Given the description of an element on the screen output the (x, y) to click on. 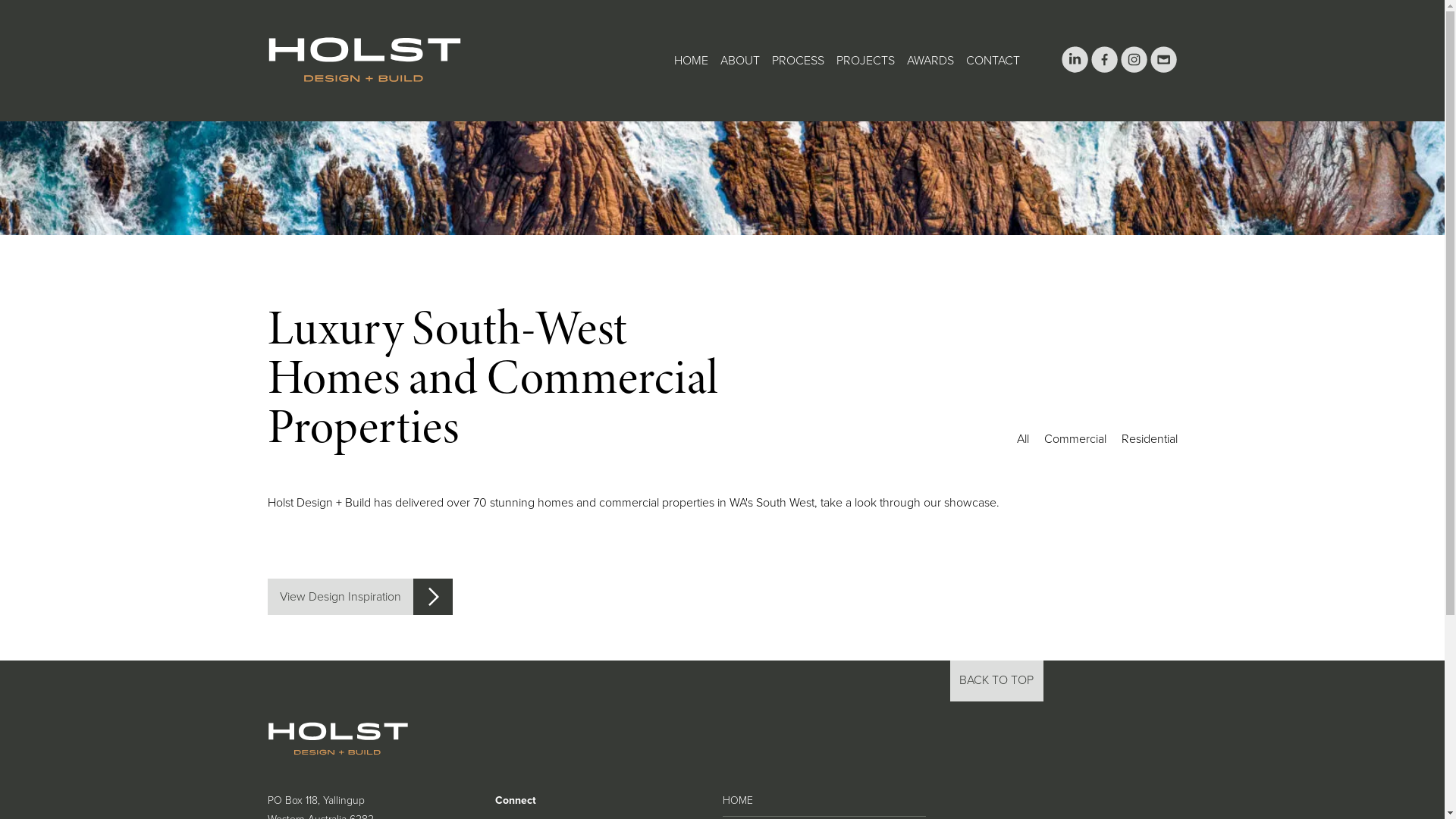
All Element type: text (1022, 438)
FOLLOW US ON INSTAGRAM Element type: text (1133, 68)
HOME Element type: text (736, 800)
CONTACT Element type: text (992, 60)
BACK TO TOP Element type: text (996, 680)
Commercial Element type: text (1074, 438)
FOLLOW US ON FACEBOOK Element type: text (1104, 68)
ABOUT Element type: text (739, 60)
FOLLOW US ON LINKEDIN Element type: text (1074, 68)
AWARDS Element type: text (929, 60)
EMAIL US AT ADMIN@HOLSTDB.COM.AU Element type: text (1163, 68)
PROCESS Element type: text (797, 60)
Residential Element type: text (1148, 438)
View Design Inspiration Element type: text (358, 596)
PROJECTS Element type: text (864, 60)
HOME Element type: text (690, 60)
